Given the description of an element on the screen output the (x, y) to click on. 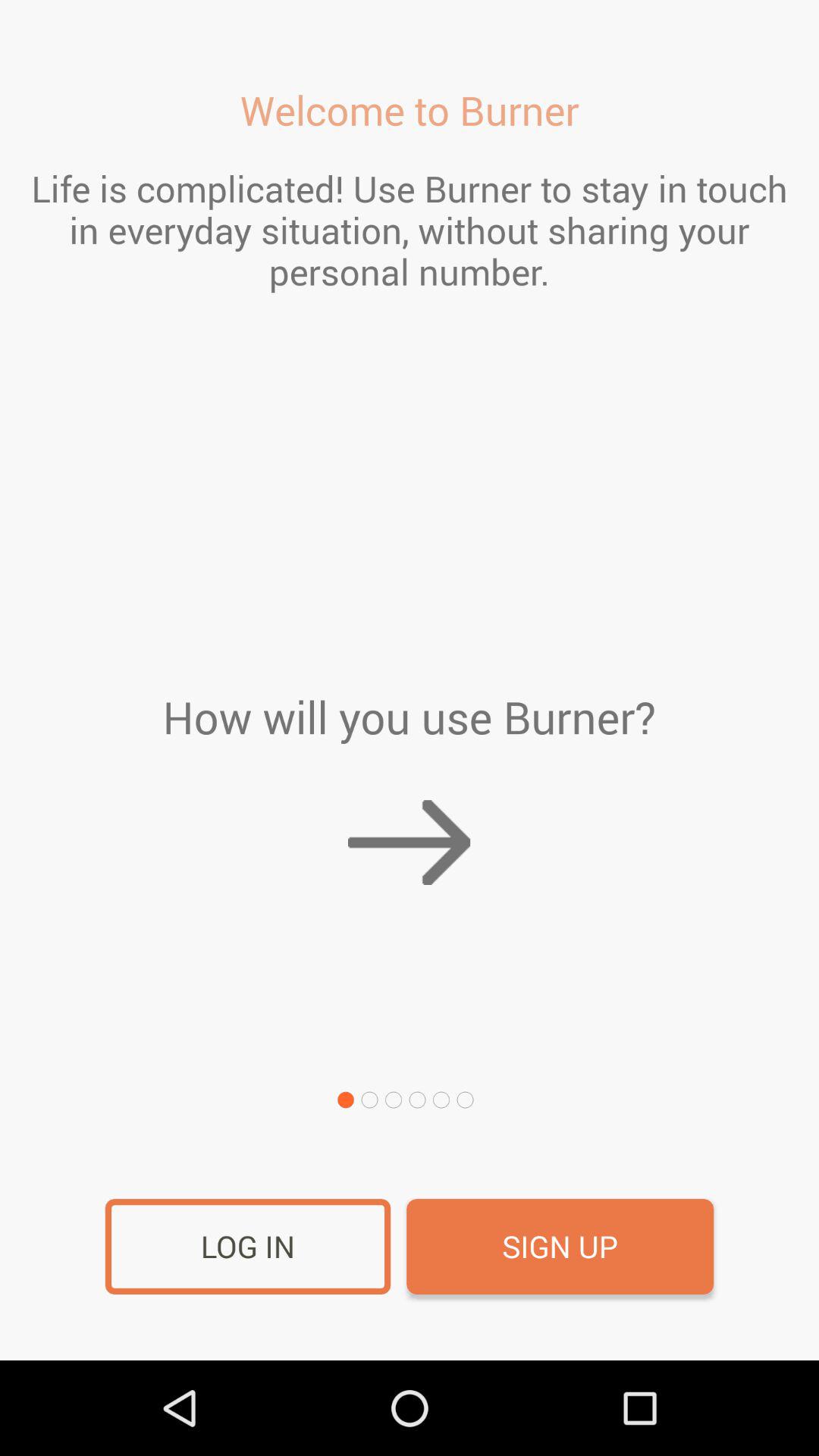
click item to the right of the log in icon (559, 1246)
